Given the description of an element on the screen output the (x, y) to click on. 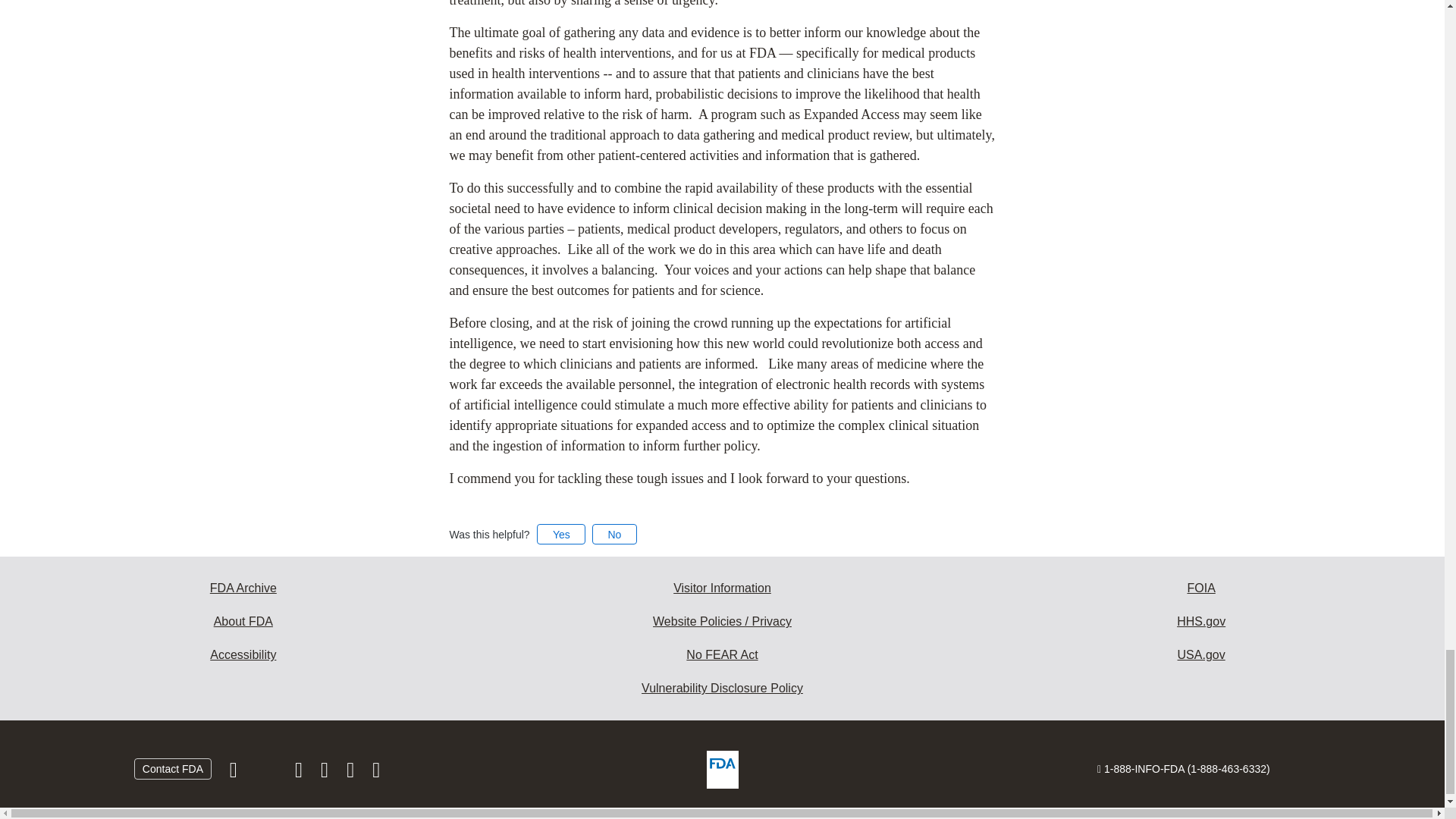
Freedom of Information Act (1200, 588)
Follow FDA on Instagram (299, 773)
Subscribe to FDA RSS feeds (376, 773)
Health and Human Services (1200, 621)
No (614, 534)
Yes (561, 534)
Follow FDA on LinkedIn (326, 773)
View FDA videos on YouTube (352, 773)
Follow FDA on Facebook (234, 773)
Follow FDA on X (266, 773)
